Given the description of an element on the screen output the (x, y) to click on. 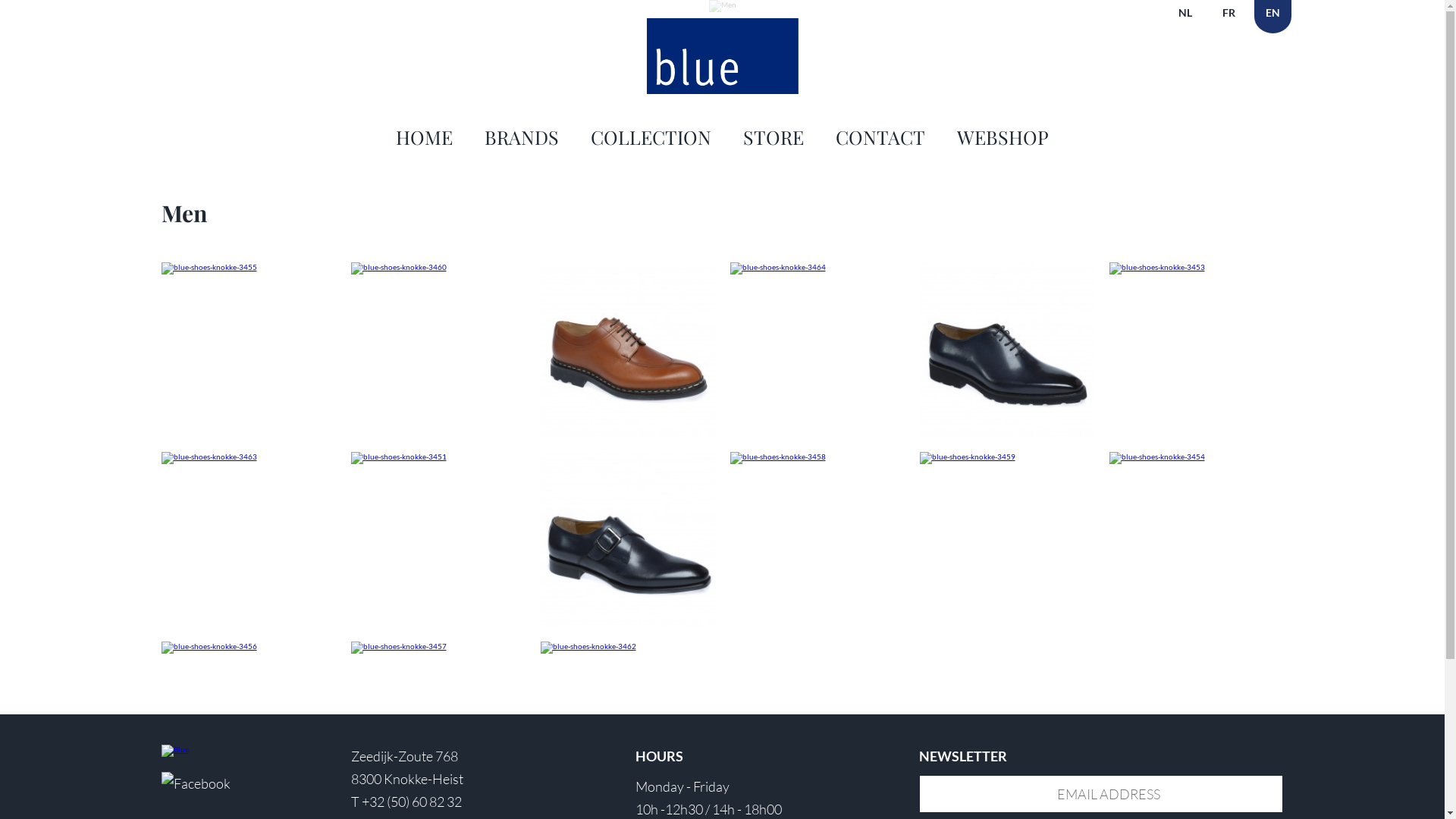
blue-shoes-knokke-3451 Element type: hover (437, 457)
blue-shoes-knokke-3456 Element type: hover (247, 647)
blue-shoes-knokke-3452 Element type: hover (626, 538)
Facebook Element type: hover (194, 782)
BRANDS Element type: text (521, 137)
STORE Element type: text (773, 137)
FR Element type: text (1227, 16)
blue-shoes-knokke-3455 Element type: hover (247, 268)
WEBSHOP Element type: text (1002, 137)
blue-shoes-knokke-3463 Element type: hover (247, 457)
blue-shoes-knokke-3454 Element type: hover (1195, 457)
blue-shoes-knokke-3462 Element type: hover (626, 647)
blue-shoes-knokke-3461 Element type: hover (626, 349)
COLLECTION Element type: text (650, 137)
Blue Element type: hover (203, 750)
blue-shoes-knokke-3458 Element type: hover (816, 457)
HOME Element type: text (423, 137)
blue-shoes-knokke-3459 Element type: hover (1006, 457)
blue-shoes-knokke-3457 Element type: hover (437, 647)
blue-shoes-knokke-3450 Element type: hover (1006, 349)
Blue Element type: hover (721, 56)
NL Element type: text (1184, 16)
CONTACT Element type: text (880, 137)
blue-shoes-knokke-3453 Element type: hover (1195, 268)
blue-shoes-knokke-3460 Element type: hover (437, 268)
blue-shoes-knokke-3464 Element type: hover (816, 268)
